Given the description of an element on the screen output the (x, y) to click on. 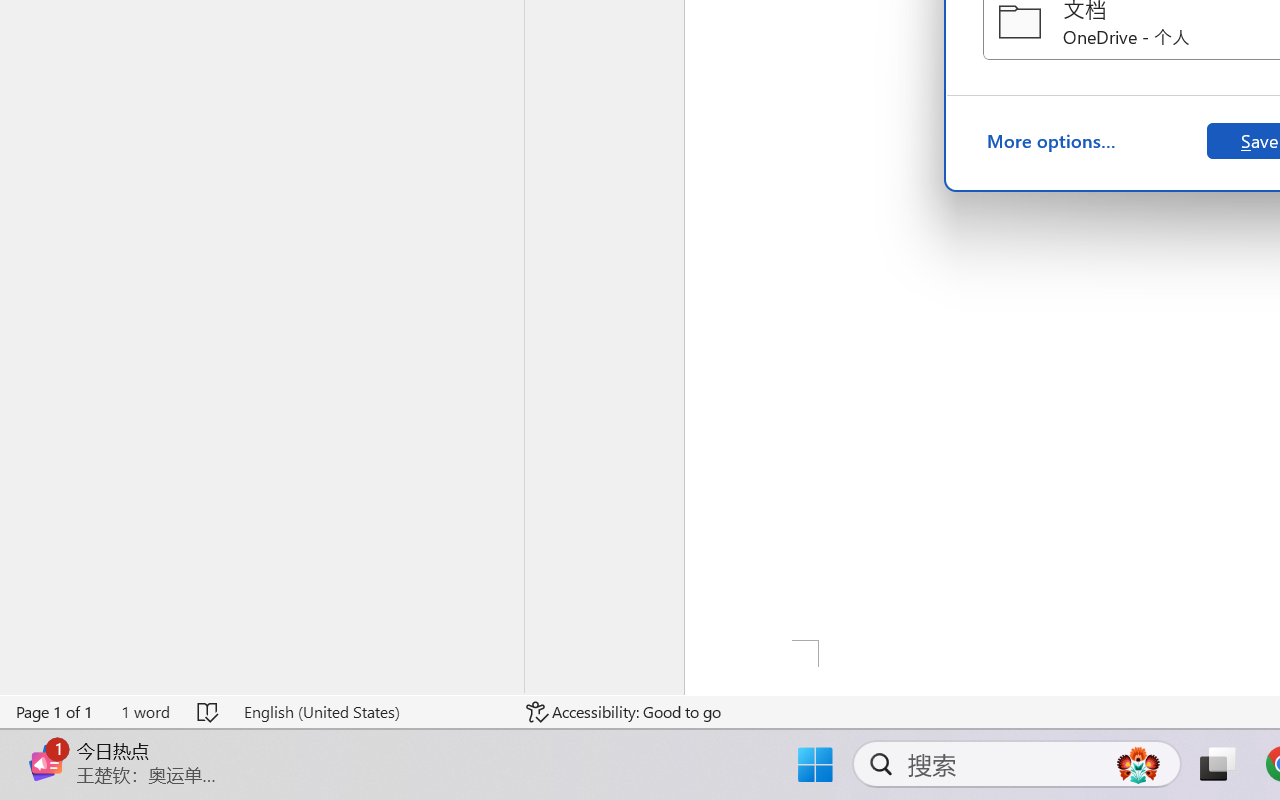
AutomationID: DynamicSearchBoxGleamImage (1138, 764)
Class: Image (46, 762)
Word Count 1 word (145, 712)
Accessibility Checker Accessibility: Good to go (623, 712)
AutomationID: BadgeAnchorLargeTicker (46, 743)
Spelling and Grammar Check No Errors (208, 712)
Page Number Page 1 of 1 (55, 712)
Language English (United States) (370, 712)
